Given the description of an element on the screen output the (x, y) to click on. 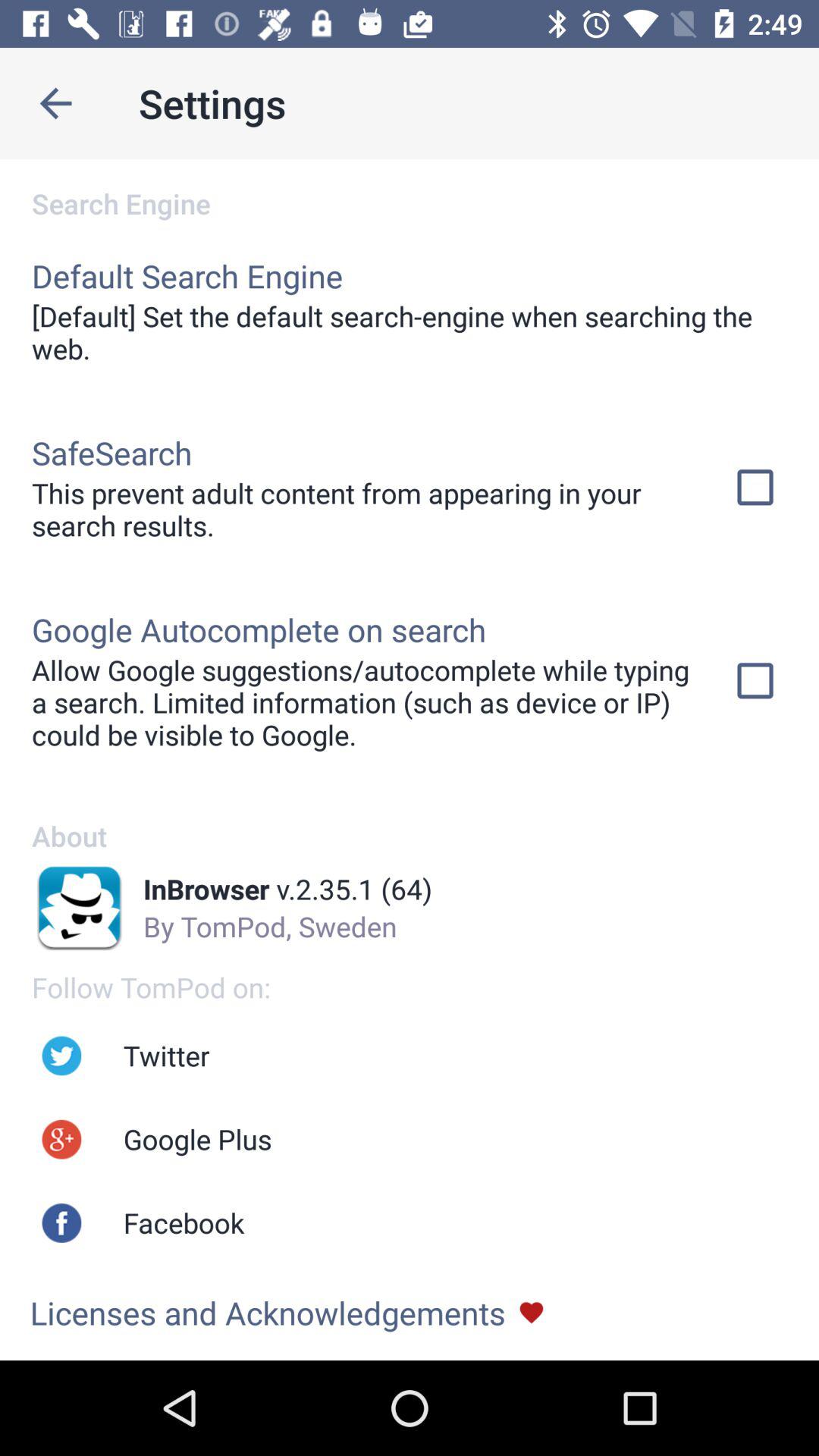
press the item below the twitter app (197, 1139)
